Given the description of an element on the screen output the (x, y) to click on. 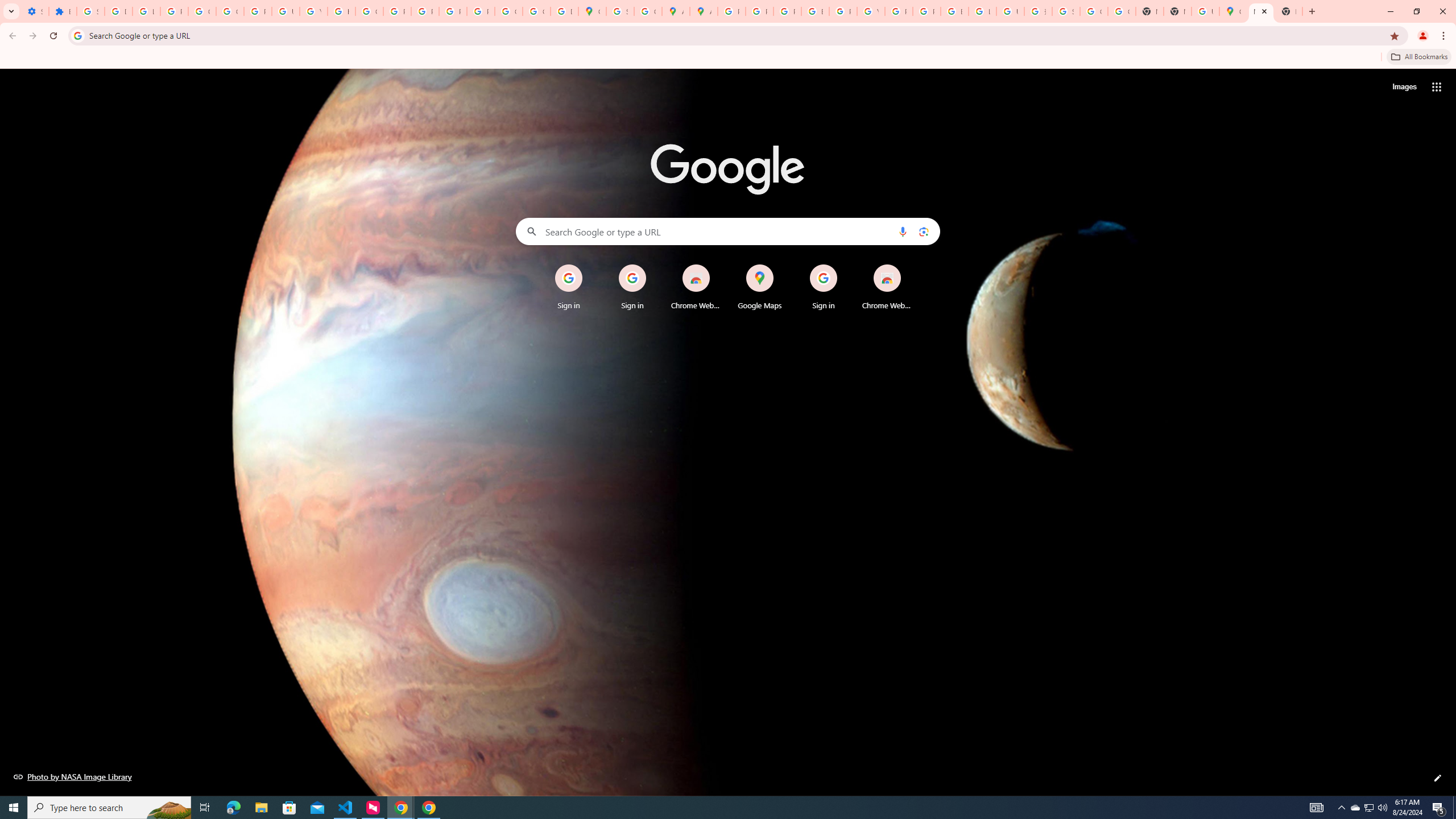
Photo by NASA Image Library (72, 776)
Sign in - Google Accounts (620, 11)
Google Maps (1233, 11)
New Tab (1177, 11)
Google Maps (592, 11)
Privacy Help Center - Policies Help (787, 11)
https://scholar.google.com/ (341, 11)
